Given the description of an element on the screen output the (x, y) to click on. 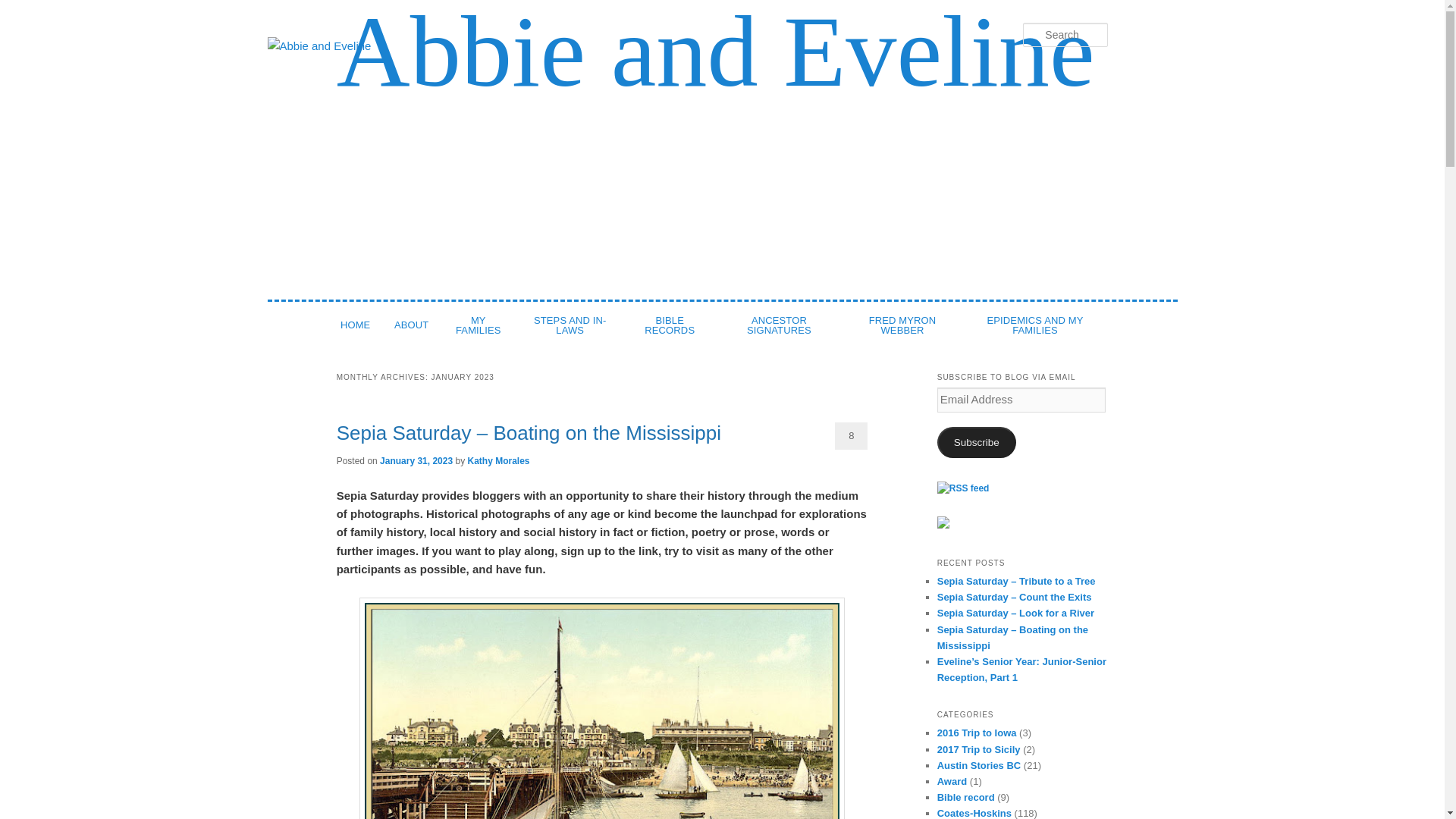
Abbie and Eveline (715, 53)
6:33 pm (416, 460)
Subscribe to posts (963, 488)
Search (24, 8)
HOME (355, 324)
EPIDEMICS AND MY FAMILIES (1035, 324)
BIBLE RECORDS (670, 324)
View all posts by Kathy Morales (498, 460)
Kathy Morales (498, 460)
